Given the description of an element on the screen output the (x, y) to click on. 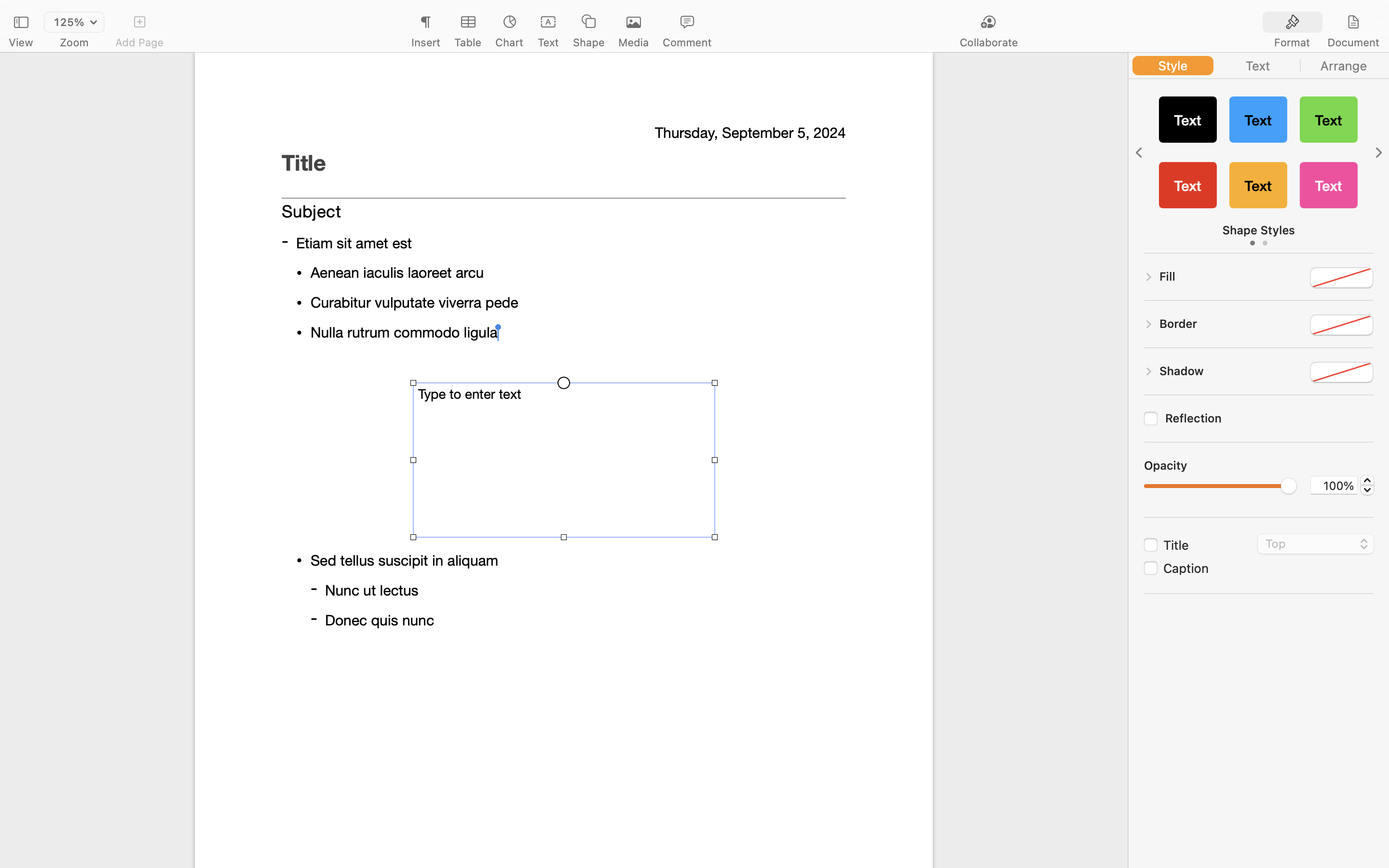
Format Element type: AXStaticText (1291, 42)
Click to link text boxes together. Element type: AXStaticText (563, 284)
1.0 Element type: AXIncrementor (1367, 484)
